Given the description of an element on the screen output the (x, y) to click on. 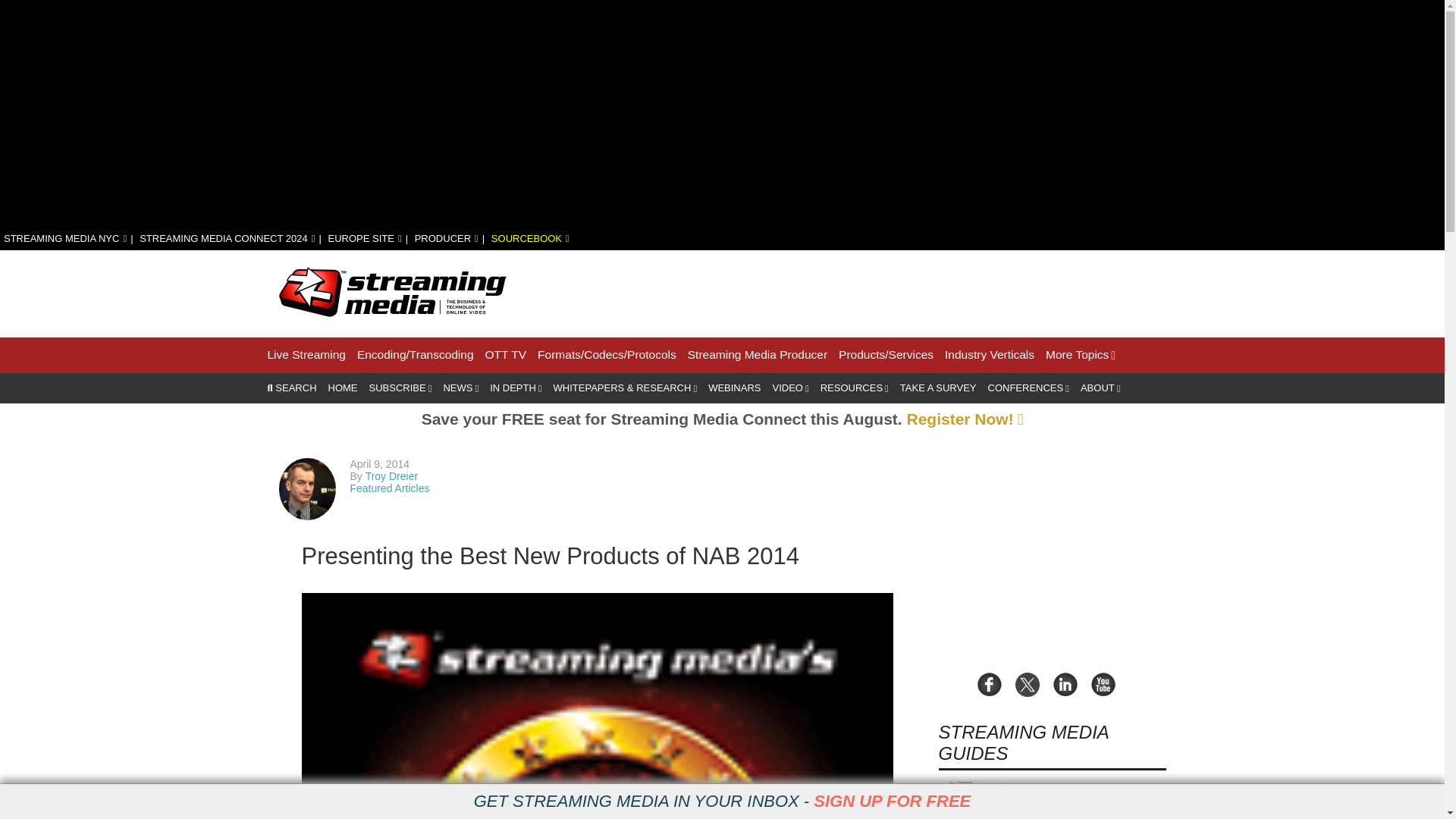
SOURCEBOOK (530, 238)
OTT TV (505, 355)
Live Streaming (305, 355)
STREAMING MEDIA NYC (65, 238)
EUROPE SITE (364, 238)
OTT TV (505, 355)
STREAMING MEDIA CONNECT 2024 (226, 238)
Live Streaming (305, 355)
Streaming Media Producer (757, 355)
NEWS (460, 388)
HOME (343, 387)
SUBSCRIBE (400, 388)
3rd party ad content (890, 291)
Streaming Media Producer (757, 355)
 SEARCH (290, 387)
